Given the description of an element on the screen output the (x, y) to click on. 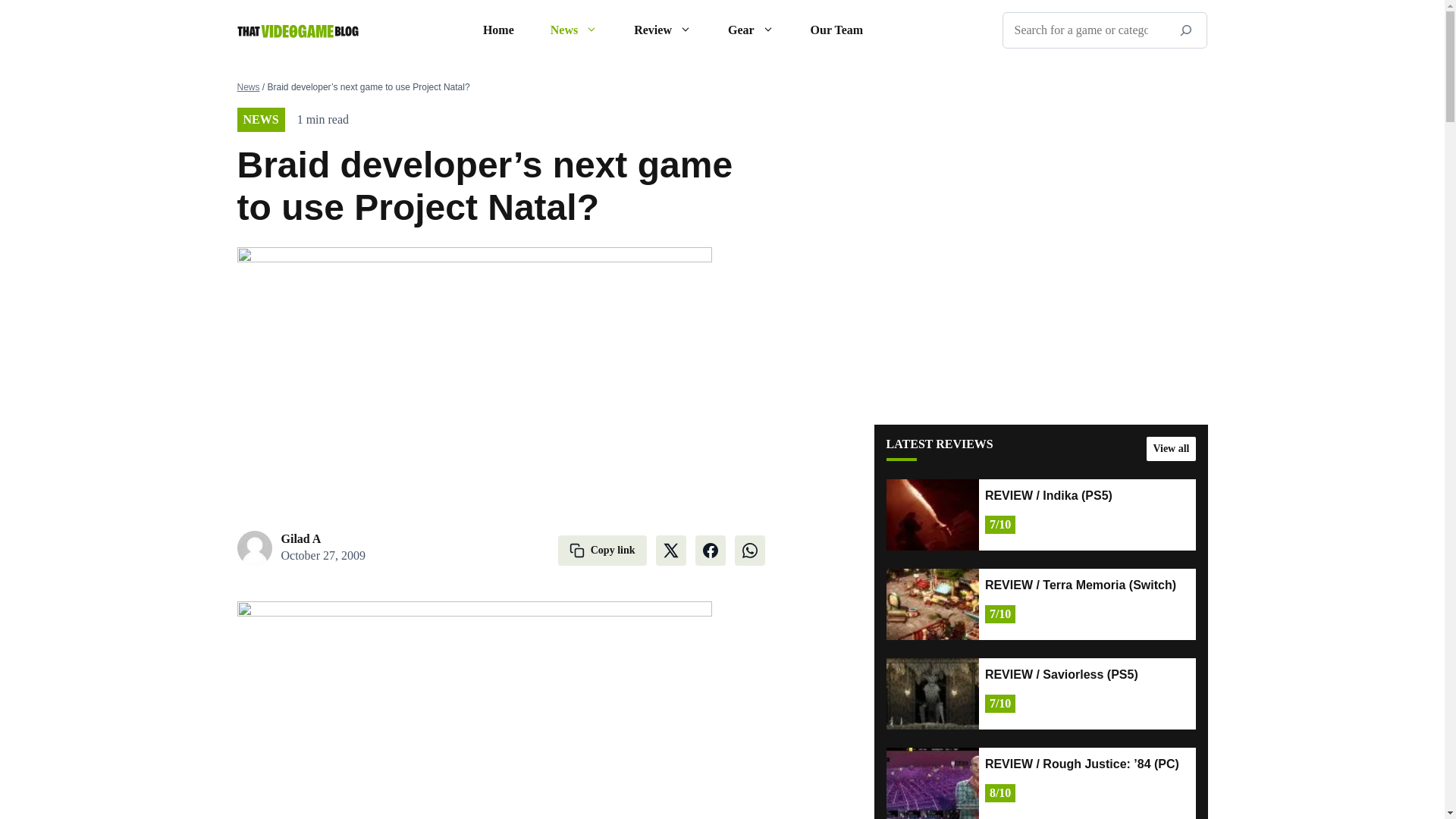
Gear (751, 29)
Home (498, 29)
Review (662, 29)
News (573, 29)
